Given the description of an element on the screen output the (x, y) to click on. 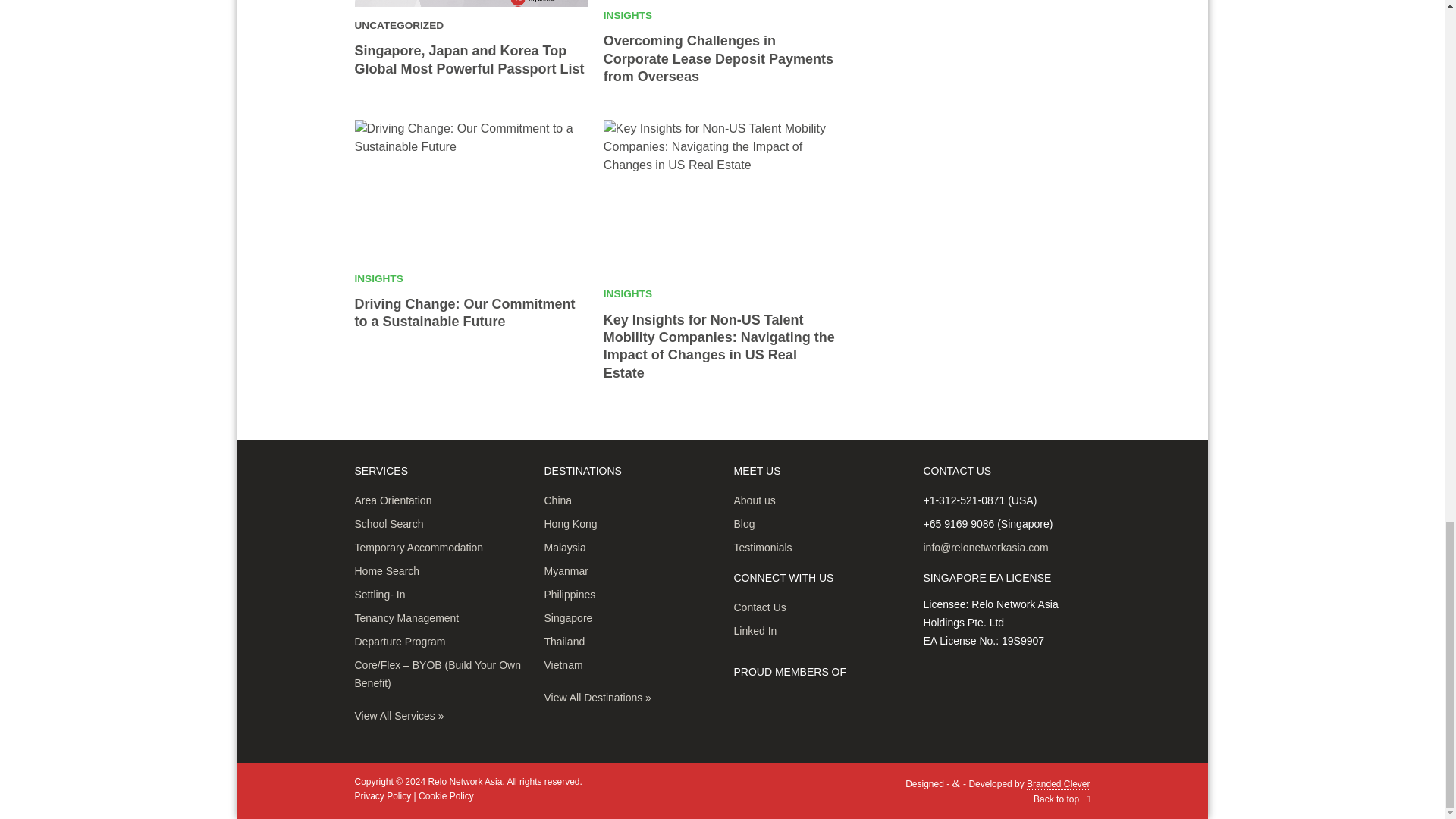
Driving Change: Our Commitment to a Sustainable Future (471, 189)
Driving Change: Our Commitment to a Sustainable Future (465, 312)
